Given the description of an element on the screen output the (x, y) to click on. 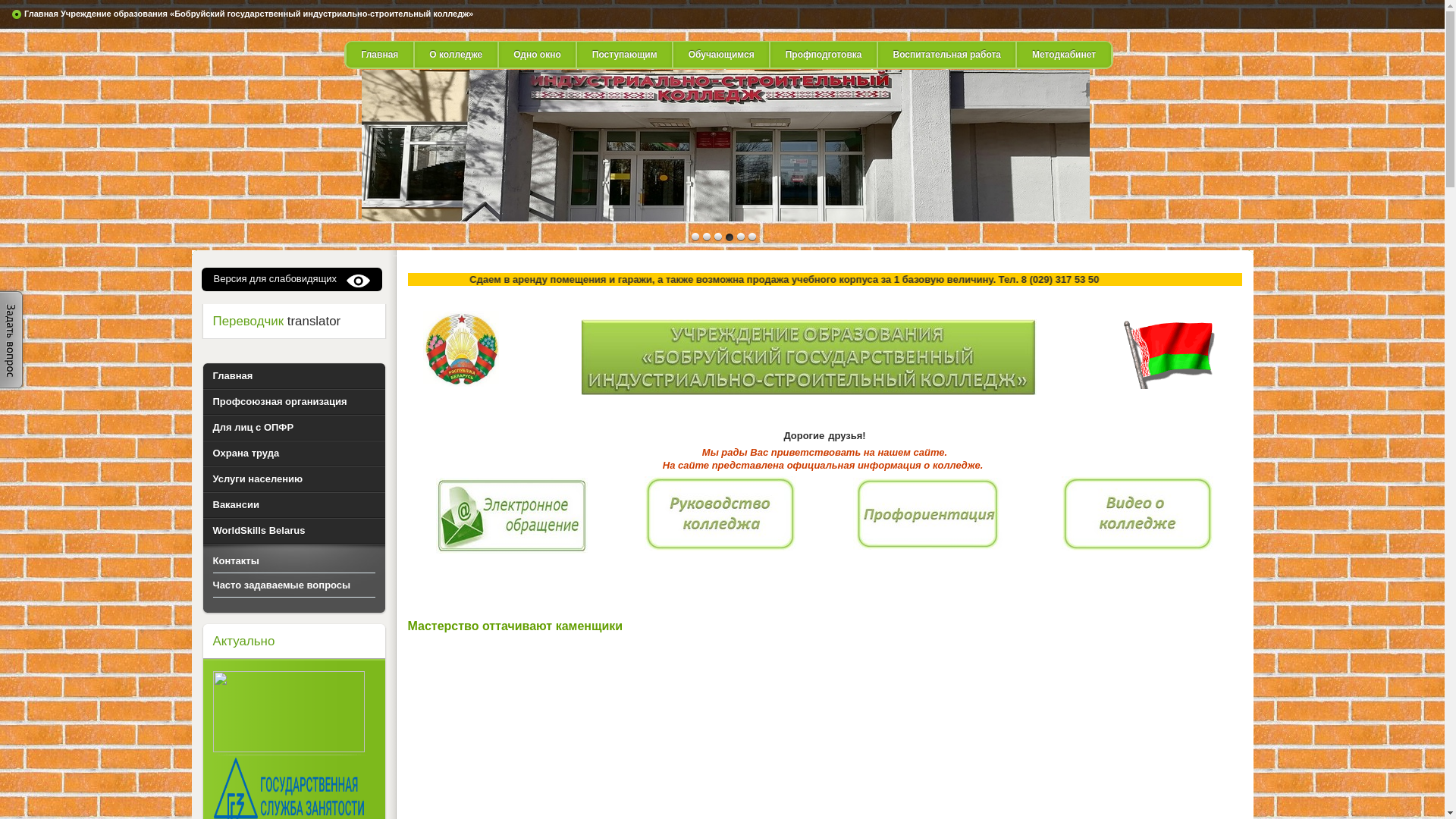
2 Element type: text (717, 236)
1 Element type: text (705, 236)
0 Element type: text (695, 236)
WorldSkills Belarus Element type: text (294, 530)
4 Element type: text (740, 236)
5 Element type: text (751, 236)
3 Element type: text (728, 236)
